Given the description of an element on the screen output the (x, y) to click on. 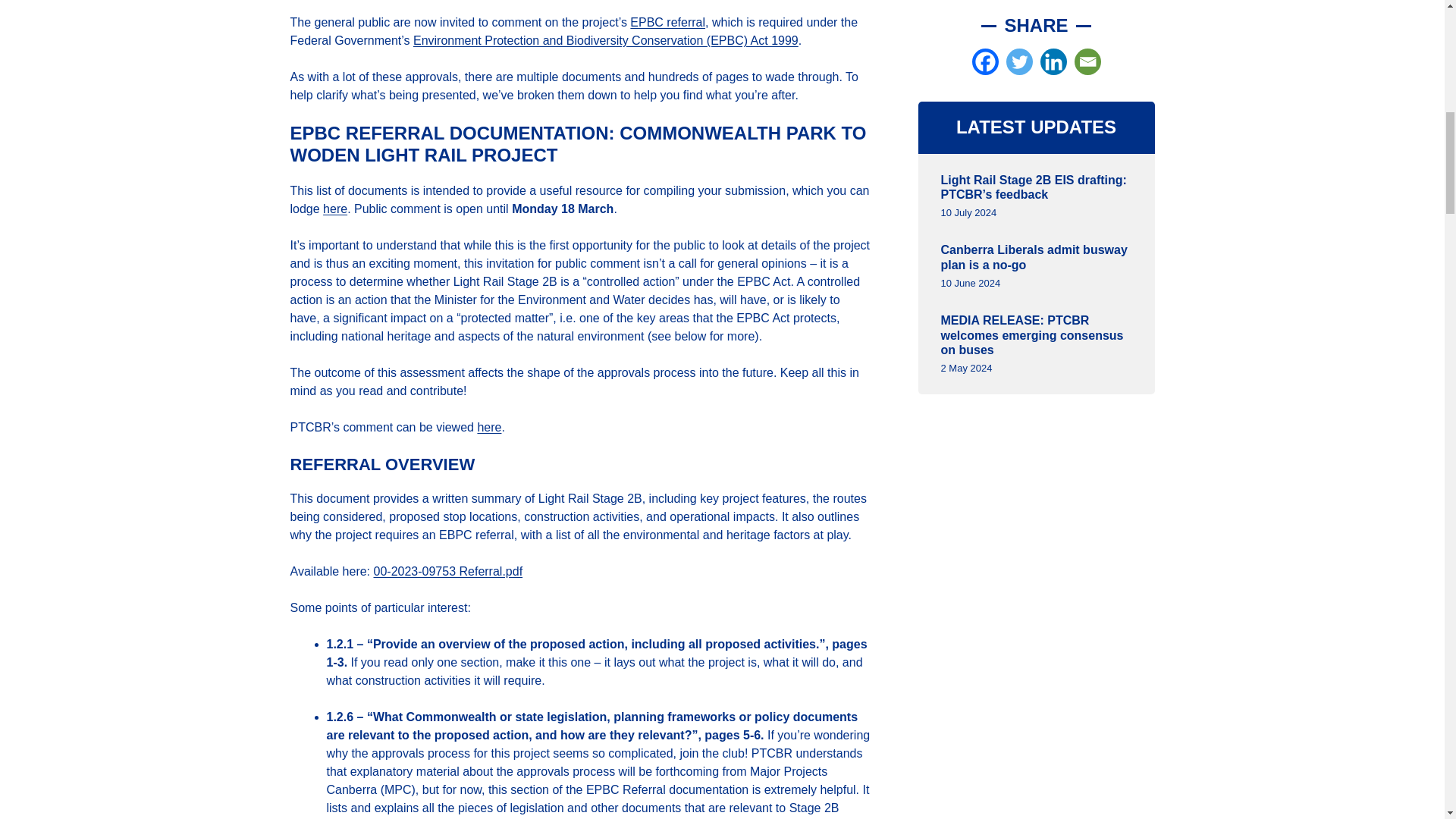
Scroll back to top (1406, 720)
